Given the description of an element on the screen output the (x, y) to click on. 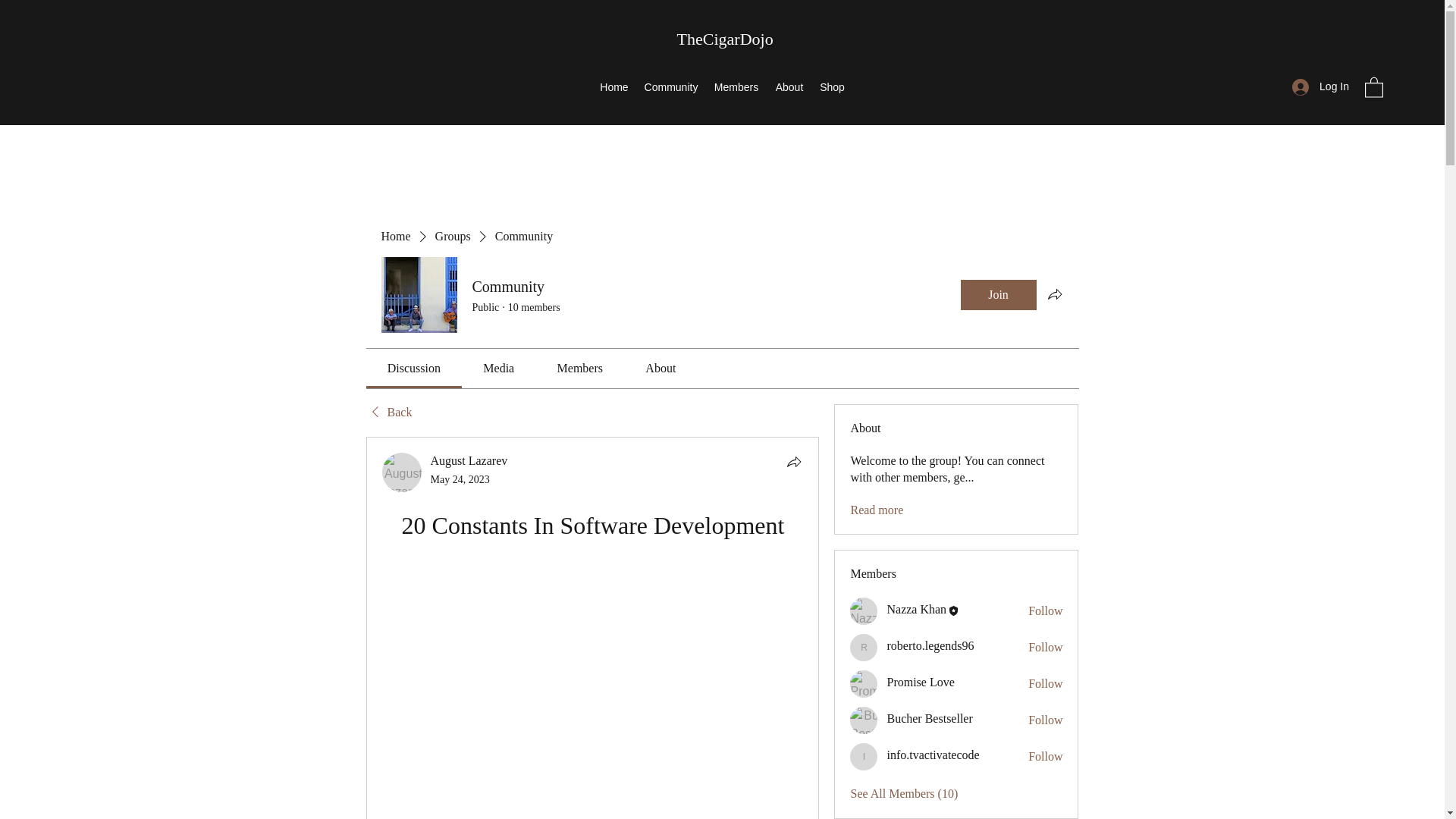
Join (997, 295)
August Lazarev (469, 460)
Groups (452, 236)
Follow (1044, 683)
Follow (1044, 719)
Log In (1320, 86)
info.tvactivatecode (932, 754)
Bucher Bestseller (929, 717)
Bucher Bestseller (863, 719)
Shop (831, 87)
Community (671, 87)
Follow (1044, 610)
Follow (1044, 647)
Promise Love (919, 681)
Members (736, 87)
